Given the description of an element on the screen output the (x, y) to click on. 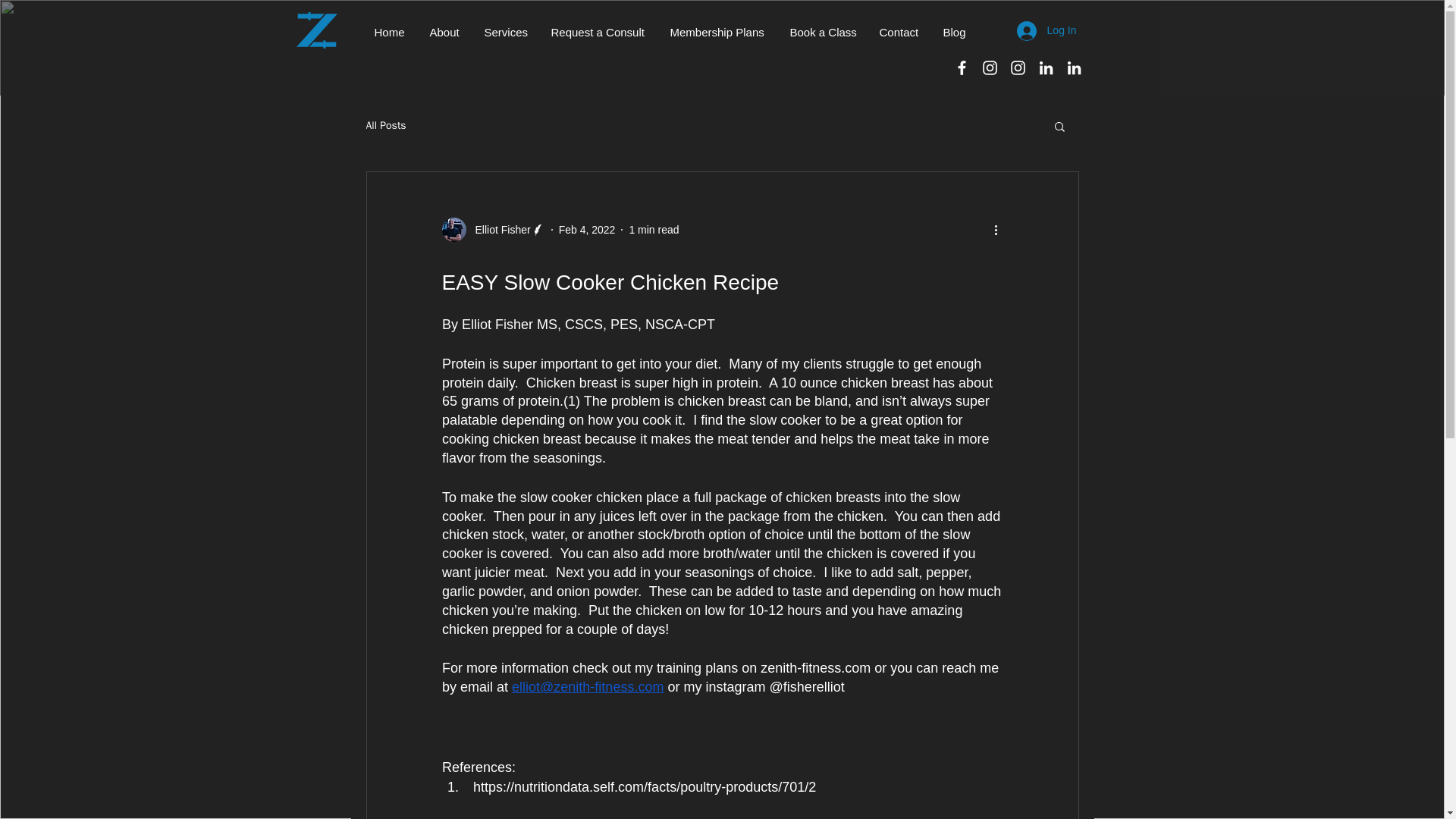
Elliot Fisher (492, 229)
About (446, 31)
Feb 4, 2022 (587, 228)
Elliot Fisher (497, 229)
Request a Consult (599, 31)
Contact (899, 31)
Membership Plans (717, 31)
Log In (1046, 30)
Home (389, 31)
1 min read (653, 228)
